Given the description of an element on the screen output the (x, y) to click on. 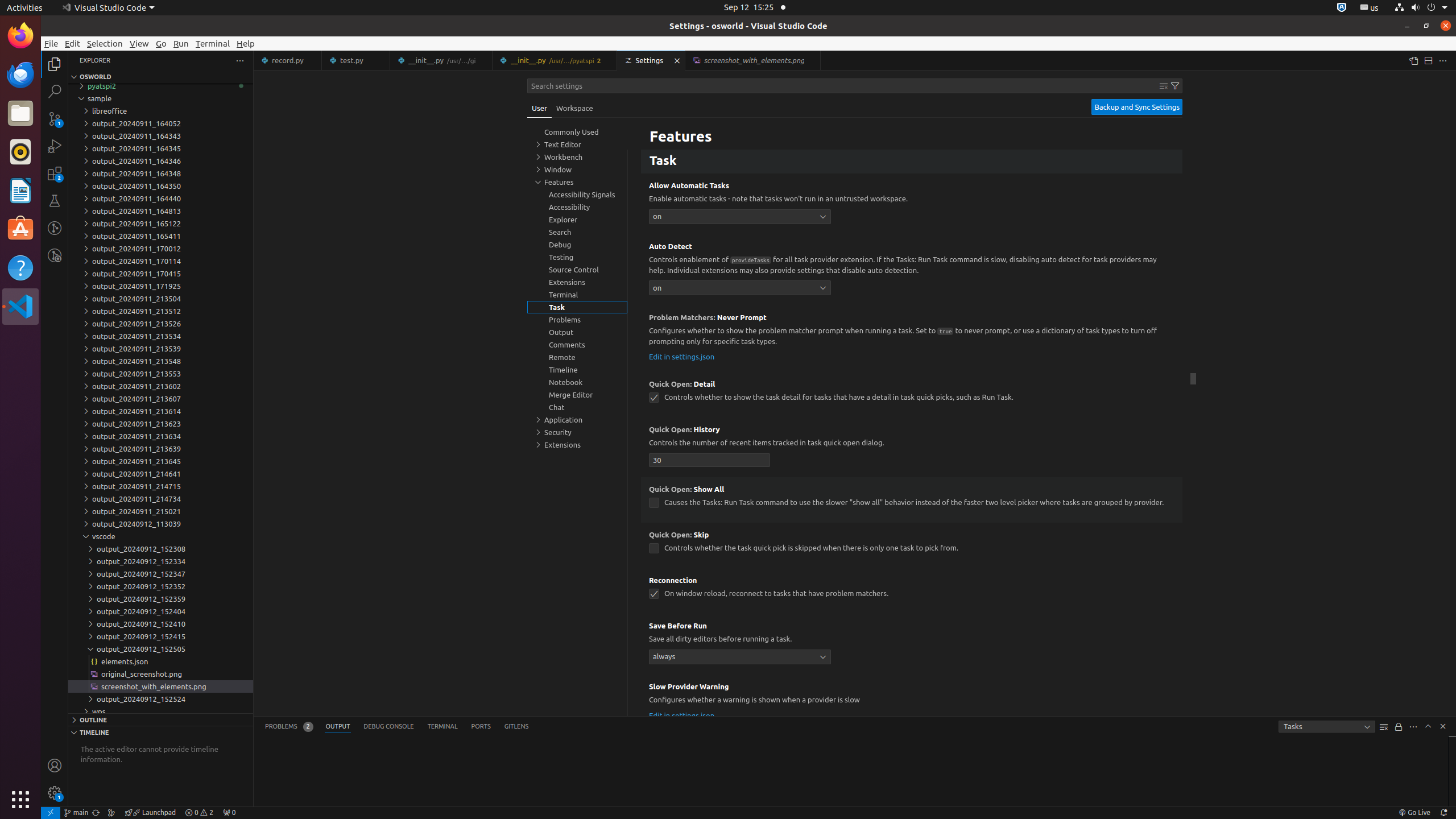
output_20240911_213623 Element type: tree-item (160, 423)
Problems (Ctrl+Shift+M) - Total 2 Problems Element type: page-tab (288, 726)
GitLens Element type: page-tab (516, 726)
Manage - New Code update available. Element type: push-button (54, 792)
output_20240911_214715 Element type: tree-item (160, 486)
